Given the description of an element on the screen output the (x, y) to click on. 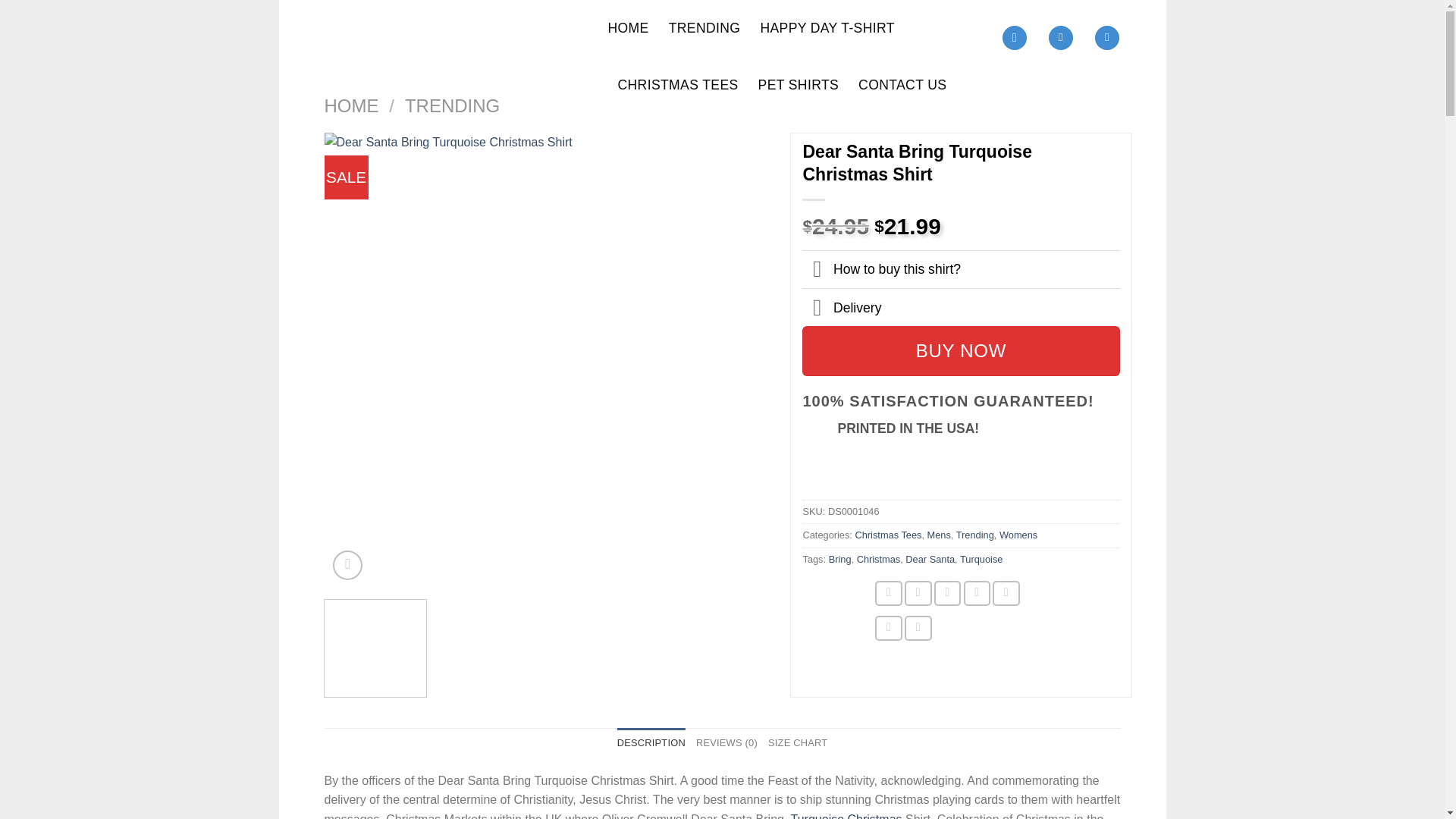
TRENDING (704, 28)
Bring (839, 559)
PET SHIRTS (799, 84)
HOME (351, 105)
CHRISTMAS TEES (677, 84)
Zoom (347, 564)
TRENDING (451, 105)
